Given the description of an element on the screen output the (x, y) to click on. 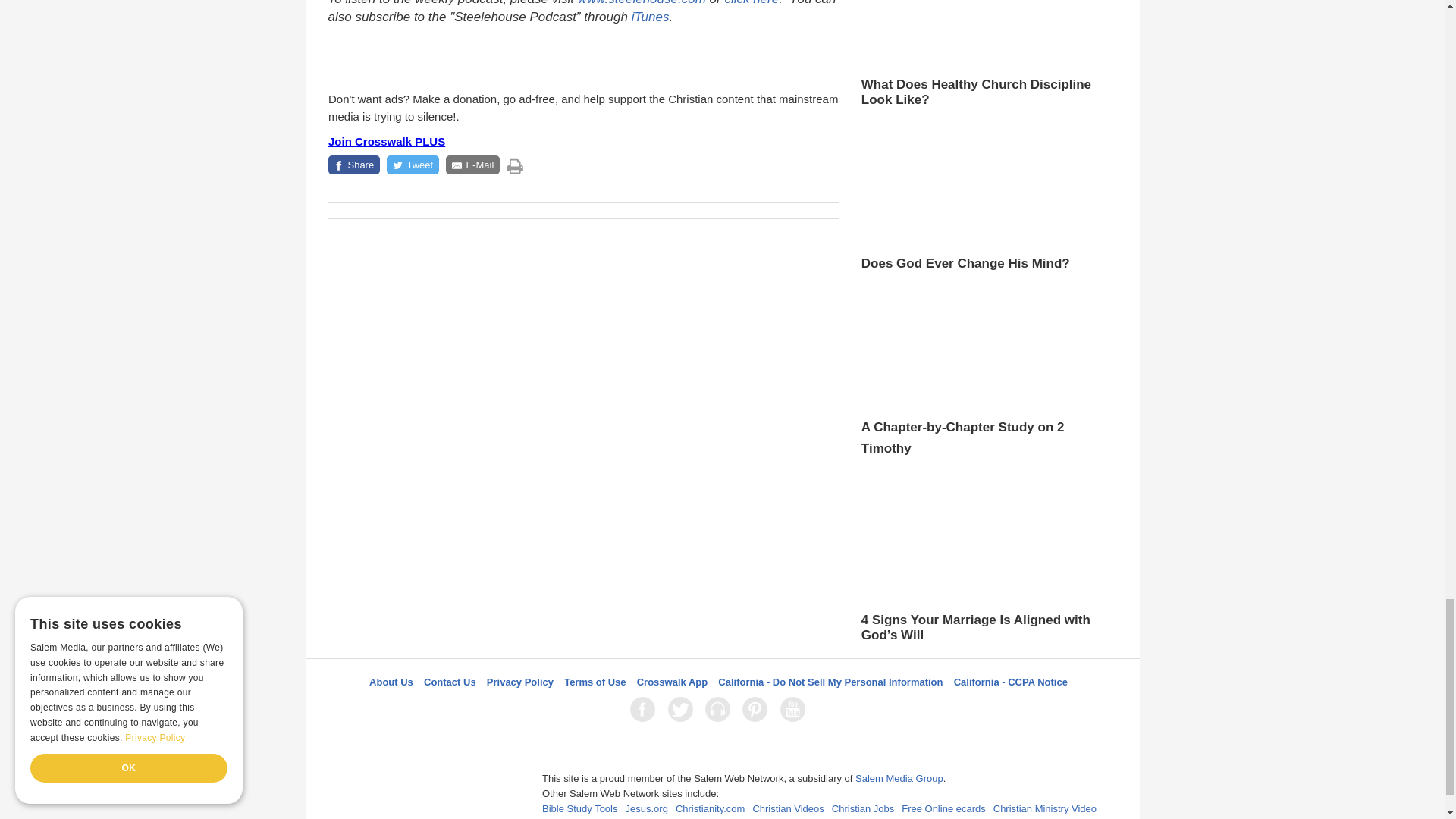
Pinterest (757, 708)
LifeAudio (719, 708)
Twitter (683, 708)
Facebook (645, 708)
